Given the description of an element on the screen output the (x, y) to click on. 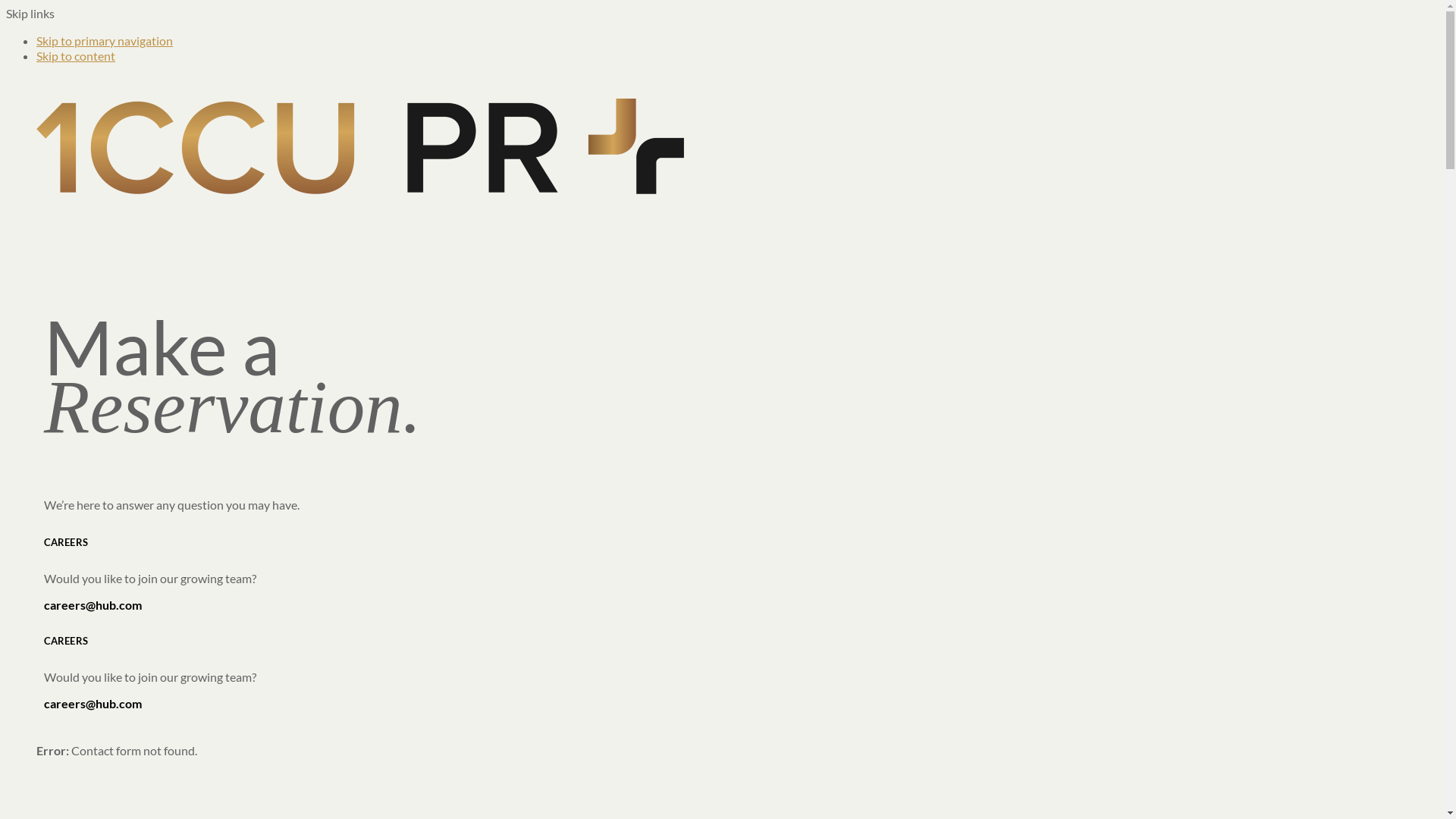
Skip to primary navigation Element type: text (104, 40)
Skip to content Element type: text (75, 55)
